Given the description of an element on the screen output the (x, y) to click on. 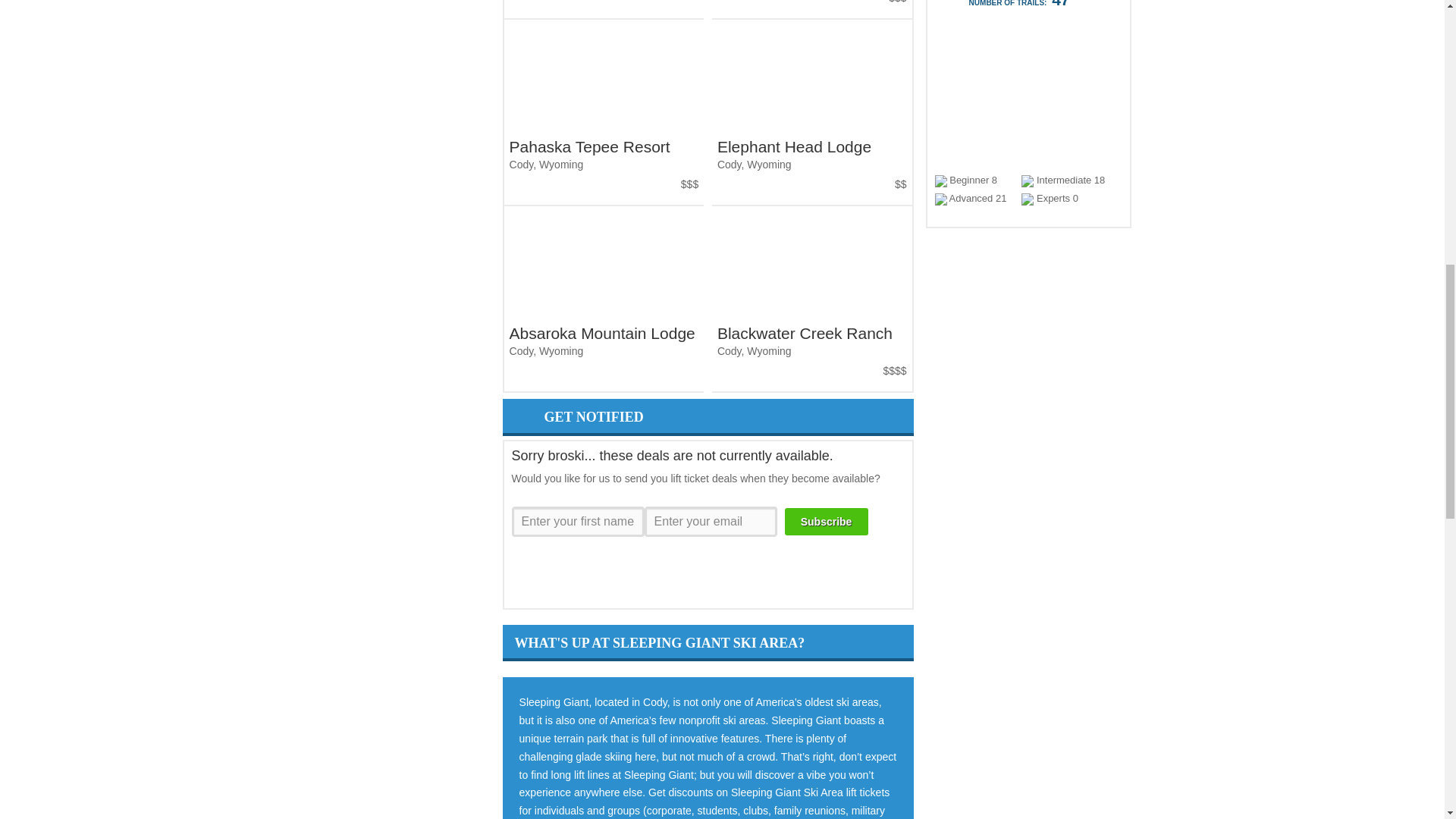
Enter your email (711, 521)
Enter your first name (578, 521)
Facebook (633, 575)
